Given the description of an element on the screen output the (x, y) to click on. 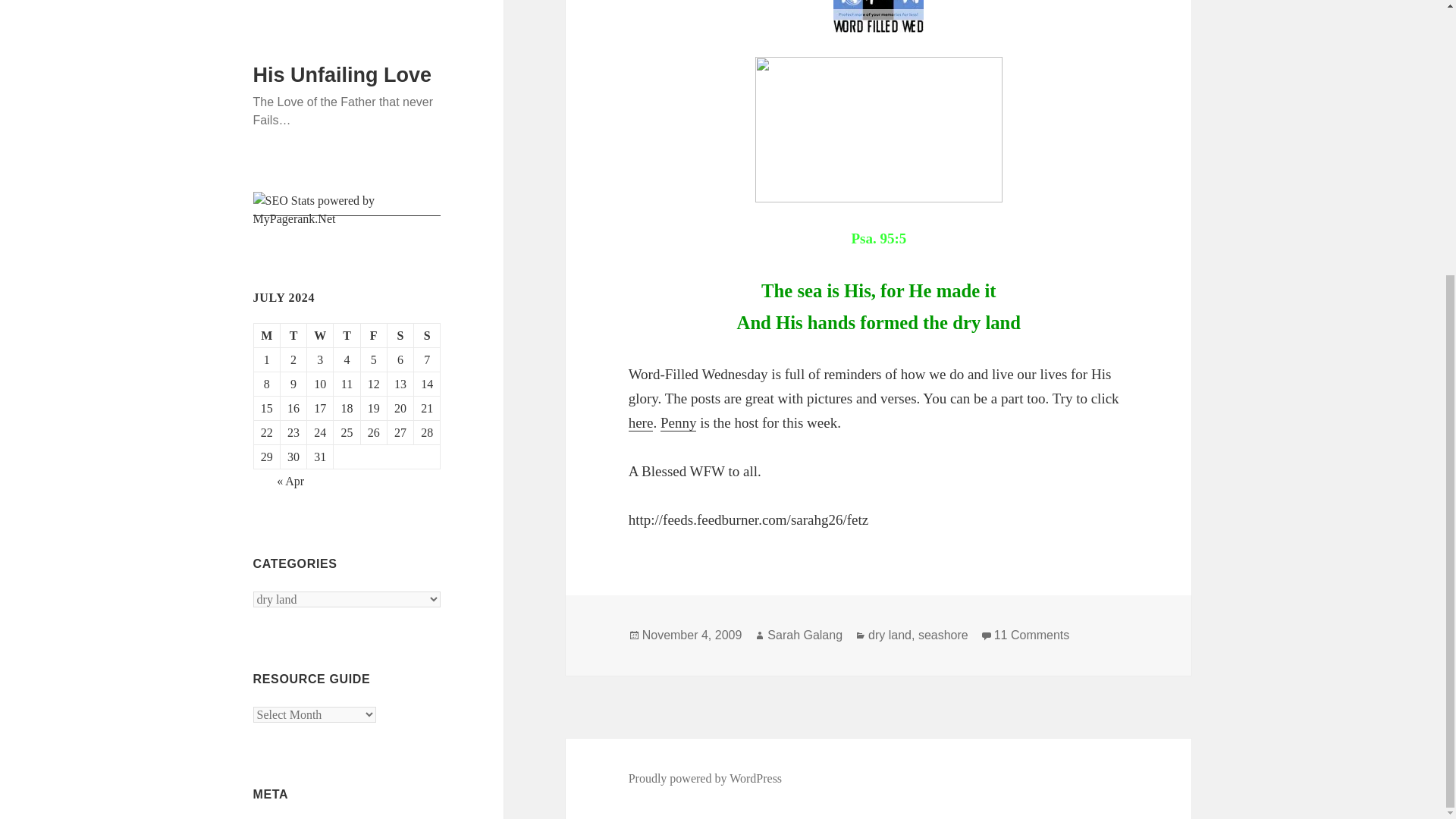
Proudly powered by WordPress (704, 778)
UP (260, 595)
sourcecoder (282, 632)
November 4, 2009 (692, 635)
Penny (679, 422)
seashore (943, 635)
Log in (1032, 635)
Entries feed (269, 423)
Sarah Galang (282, 454)
dry land (805, 635)
Comments feed (889, 635)
here (291, 484)
Nehemiah Superfood (640, 422)
WordPress.org (304, 668)
